Given the description of an element on the screen output the (x, y) to click on. 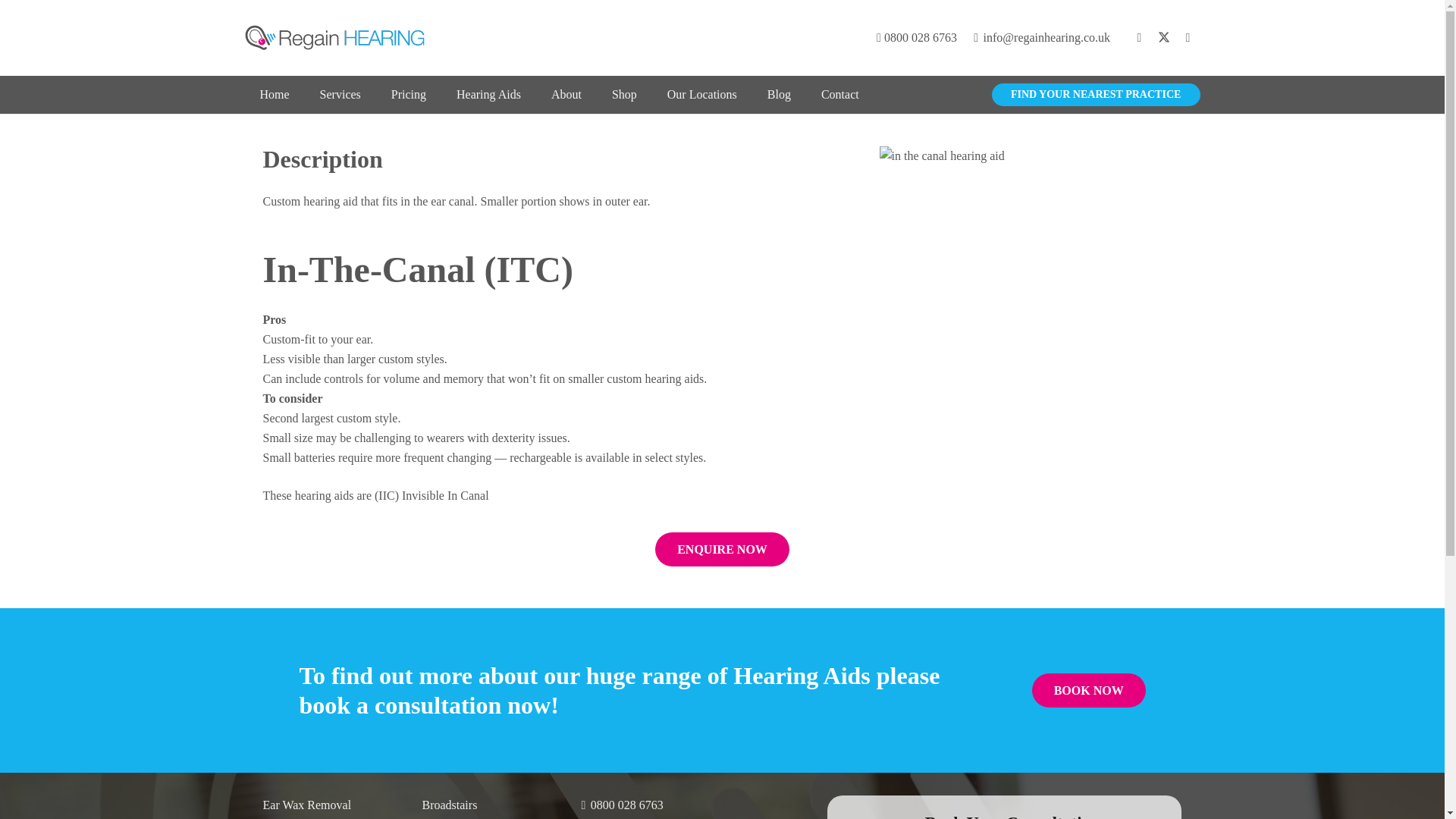
0800 028 6763 (916, 37)
YouTube (1186, 37)
Hearing Aids (488, 94)
Pricing (408, 94)
Shop (624, 94)
Our Locations (702, 94)
About (565, 94)
Home (274, 94)
Twitter (1162, 37)
Facebook (1138, 37)
Services (339, 94)
